Given the description of an element on the screen output the (x, y) to click on. 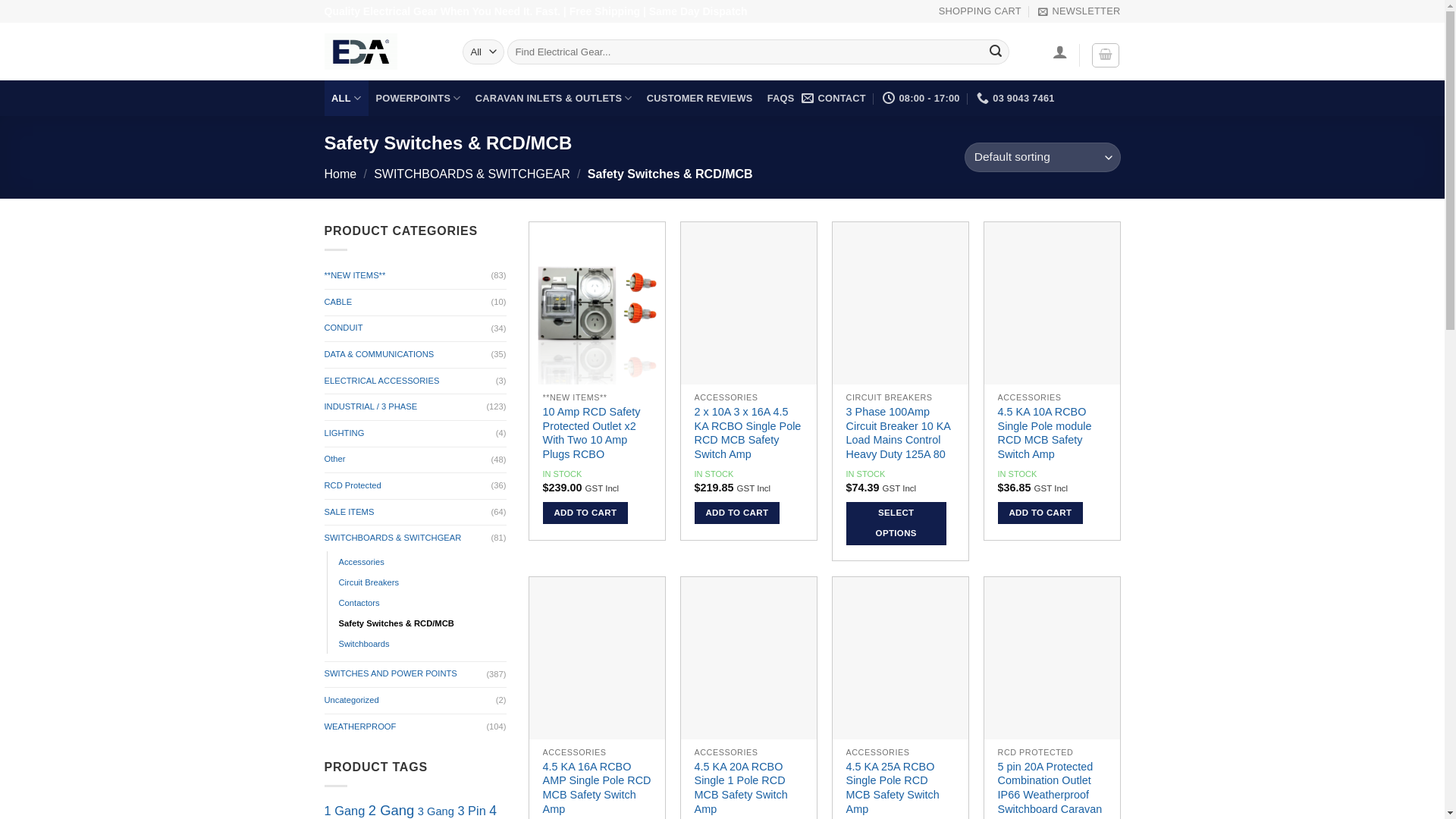
ELECTRICAL ACCESSORIES Element type: text (409, 381)
SALE ITEMS Element type: text (407, 512)
CABLE Element type: text (407, 302)
ADD TO CART Element type: text (737, 513)
CARAVAN INLETS & OUTLETS Element type: text (553, 98)
DATA & COMMUNICATIONS Element type: text (407, 354)
**NEW ITEMS** Element type: text (407, 275)
CONDUIT Element type: text (407, 327)
Uncategorized Element type: text (409, 700)
Home Element type: text (340, 173)
SHOPPING CART Element type: text (979, 11)
03 9043 7461 Element type: text (1015, 98)
POWERPOINTS Element type: text (417, 98)
INDUSTRIAL / 3 PHASE Element type: text (405, 406)
SWITCHBOARDS & SWITCHGEAR Element type: text (471, 173)
SWITCHBOARDS & SWITCHGEAR Element type: text (407, 538)
Contactors Element type: text (358, 603)
2 Gang Element type: text (391, 810)
Other Element type: text (407, 459)
Skip to content Element type: text (0, 0)
4.5 KA 20A RCBO Single 1 Pole RCD MCB Safety Switch Amp Element type: text (748, 787)
SWITCHES AND POWER POINTS Element type: text (405, 673)
CONTACT Element type: text (833, 98)
3 Gang Element type: text (435, 811)
Search Element type: text (995, 52)
FAQS Element type: text (780, 98)
Switchboards Element type: text (363, 644)
4.5 KA 25A RCBO Single Pole RCD MCB Safety Switch Amp Element type: text (900, 787)
RCD Protected Element type: text (407, 485)
08:00 - 17:00 Element type: text (920, 98)
SELECT OPTIONS Element type: text (896, 523)
ALL Element type: text (346, 98)
Safety Switches & RCD/MCB Element type: text (395, 624)
4.5 KA 16A RCBO AMP Single Pole RCD MCB Safety Switch Amp Element type: text (597, 787)
ADD TO CART Element type: text (1040, 513)
1 Gang Element type: text (344, 810)
NEWSLETTER Element type: text (1079, 11)
ADD TO CART Element type: text (585, 513)
3 Pin Element type: text (471, 810)
LIGHTING Element type: text (409, 433)
CUSTOMER REVIEWS Element type: text (699, 98)
Cart Element type: hover (1105, 55)
Circuit Breakers Element type: text (368, 583)
4.5 KA 10A RCBO Single Pole module RCD MCB Safety Switch Amp Element type: text (1052, 432)
WEATHERPROOF Element type: text (405, 726)
Accessories Element type: text (360, 562)
